Given the description of an element on the screen output the (x, y) to click on. 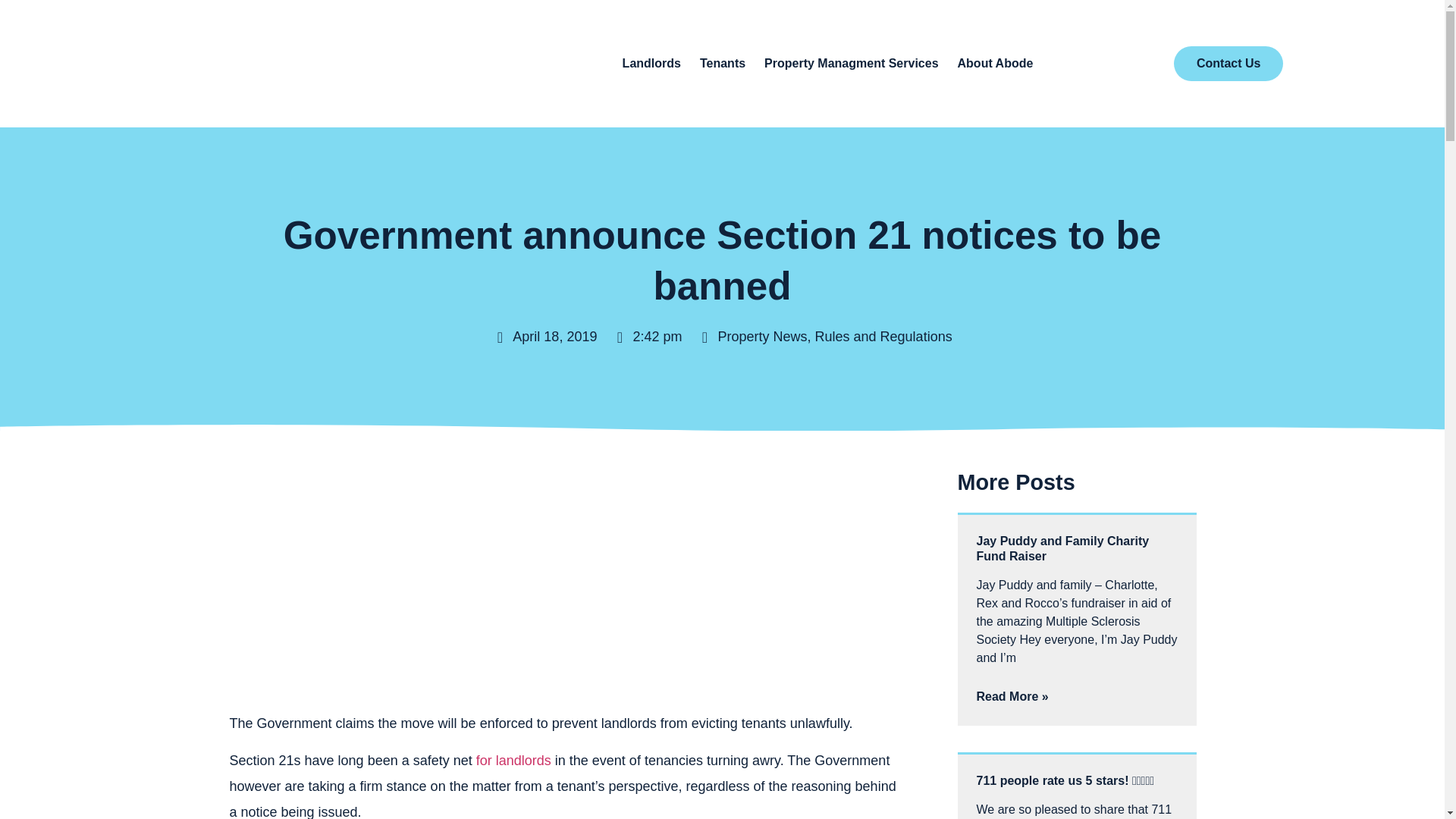
Contact Us (1227, 63)
Property Managment Services (850, 63)
About Abode (995, 63)
Tenants (722, 63)
Landlords (652, 63)
